Given the description of an element on the screen output the (x, y) to click on. 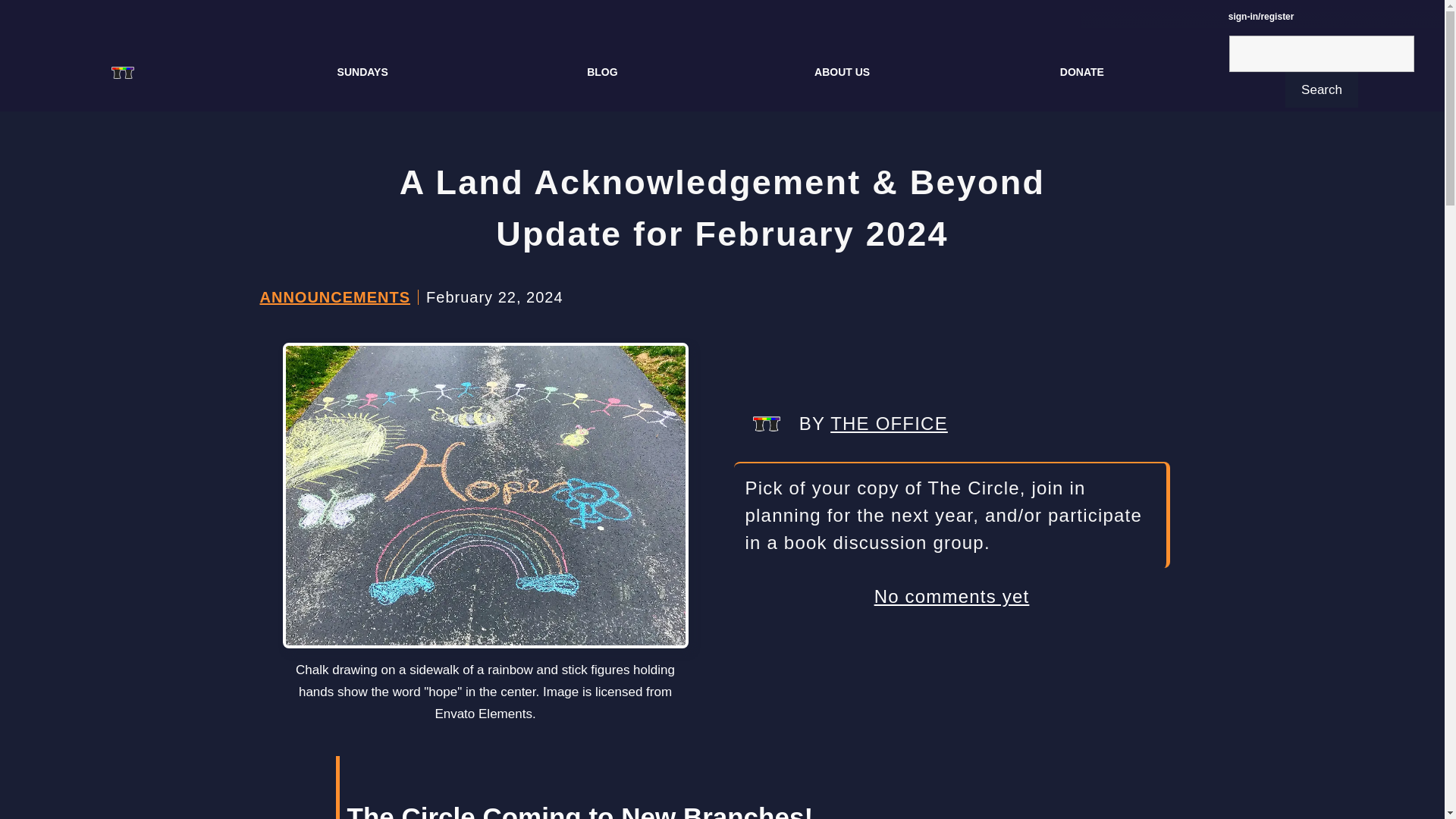
Search (1321, 89)
THE OFFICE (888, 423)
BLOG (601, 71)
ANNOUNCEMENTS (334, 297)
No comments yet (952, 596)
SUNDAYS (362, 71)
DONATE (1082, 71)
ABOUT US (841, 71)
Search (1321, 89)
